Given the description of an element on the screen output the (x, y) to click on. 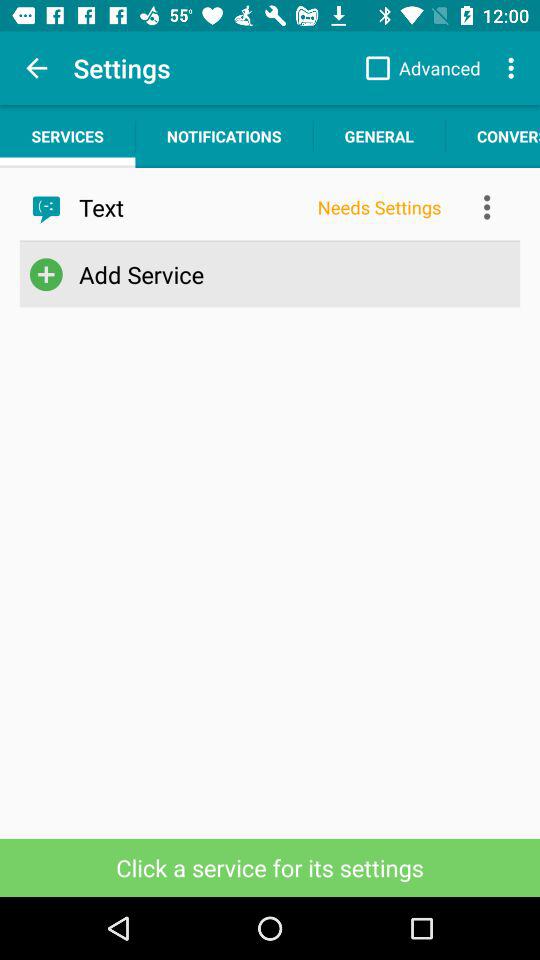
press app next to the text item (379, 207)
